Given the description of an element on the screen output the (x, y) to click on. 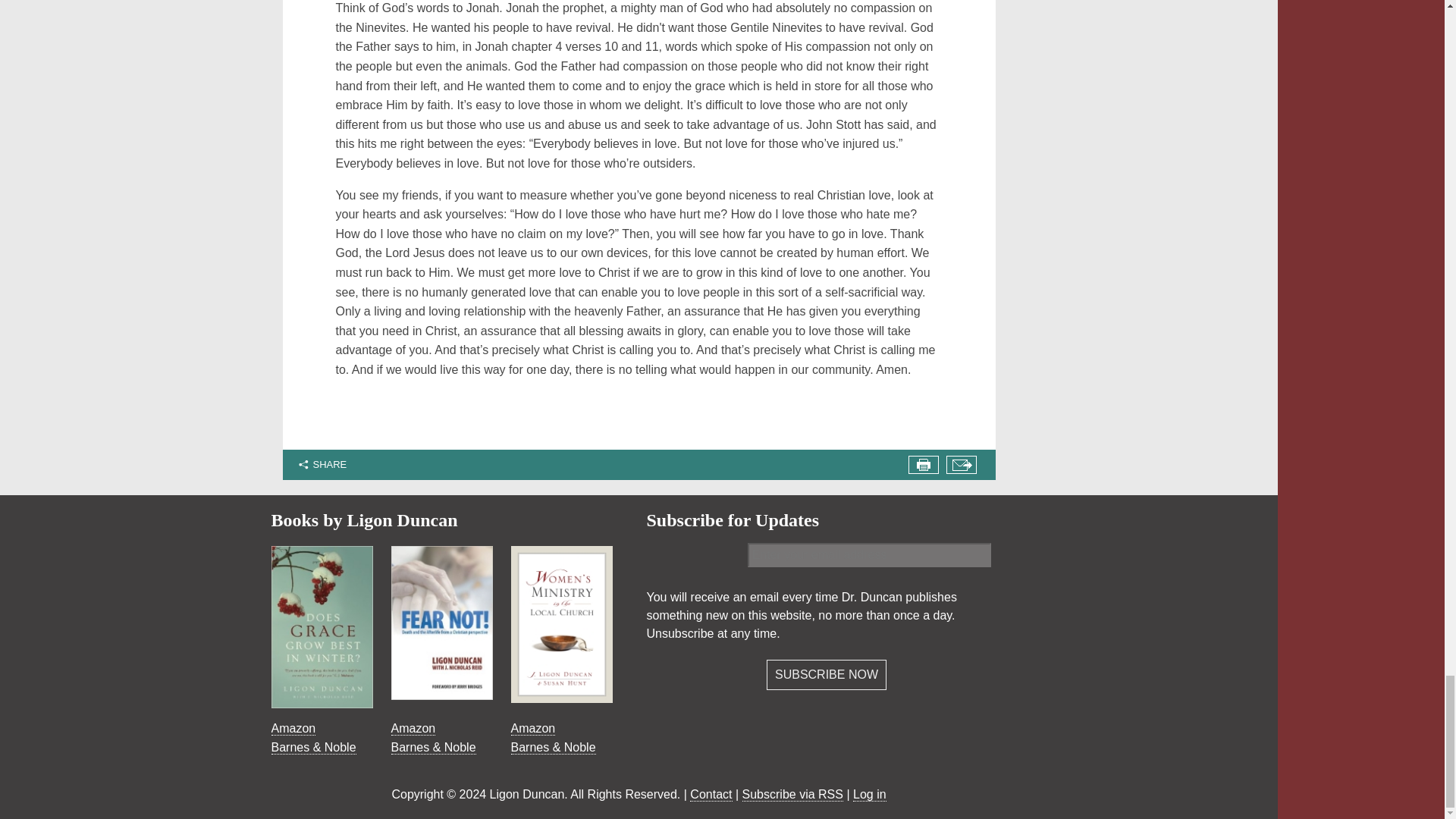
Subscribe via RSS (792, 794)
Amazon (413, 728)
Log in (869, 794)
Subscribe Now (826, 675)
Amazon (292, 728)
Subscribe Now (826, 675)
Amazon (533, 728)
Contact (711, 794)
